Given the description of an element on the screen output the (x, y) to click on. 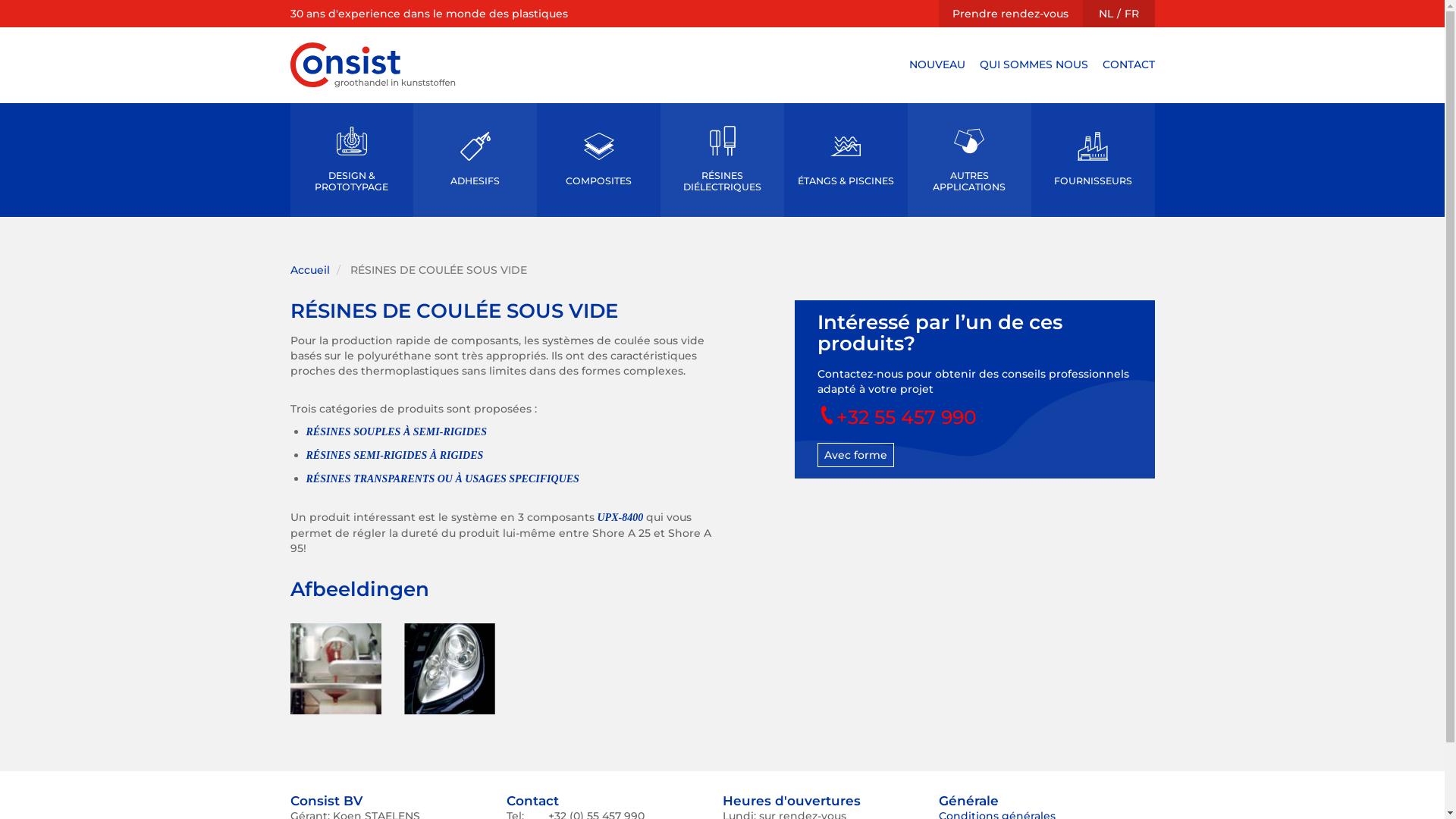
FR Element type: text (1130, 13)
QUI SOMMES NOUS Element type: text (1033, 63)
Prendre rendez-vous Element type: text (1010, 13)
NL Element type: text (1105, 13)
Glace de phare en PX5212 Element type: hover (448, 668)
NOUVEAU Element type: text (936, 63)
FOURNISSEURS Element type: text (1092, 159)
ADHESIFS Element type: text (474, 159)
UPX-8400 Element type: text (620, 517)
Aller au contenu principal Element type: text (0, 0)
Avec forme Element type: text (855, 454)
Accueil Element type: hover (372, 65)
Accueil Element type: text (309, 269)
CONTACT Element type: text (1128, 63)
